Given the description of an element on the screen output the (x, y) to click on. 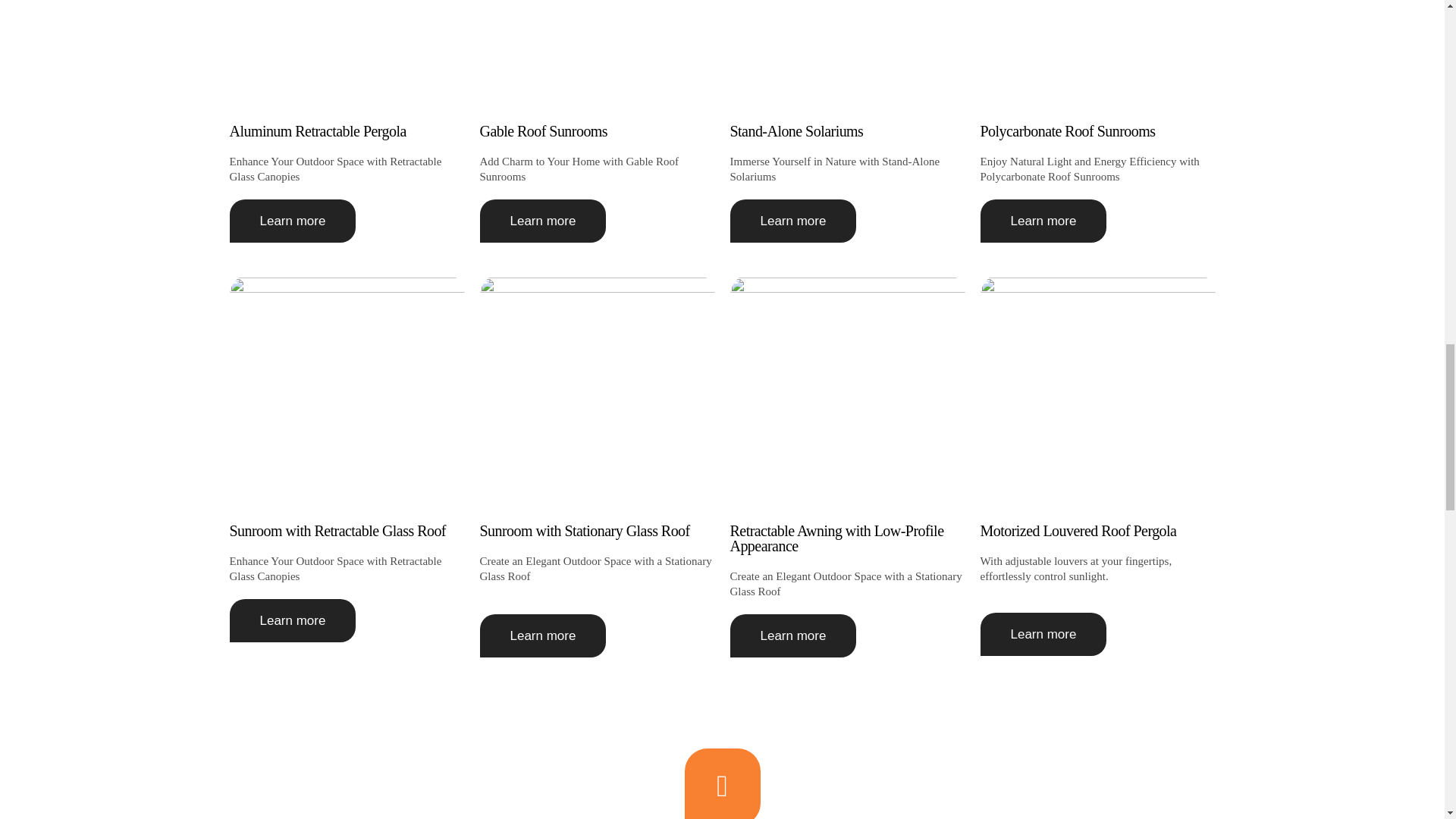
Polycarbonate Roof Sunrooms (1066, 130)
Learn more (792, 220)
Sunroom with Stationary Glass Roof (583, 530)
Sunroom with Retractable Glass Roof (336, 530)
Learn more (542, 635)
Learn more (542, 220)
Learn more (792, 635)
Learn more (291, 220)
Stand-Alone Solariums (796, 130)
Learn more (291, 620)
